Given the description of an element on the screen output the (x, y) to click on. 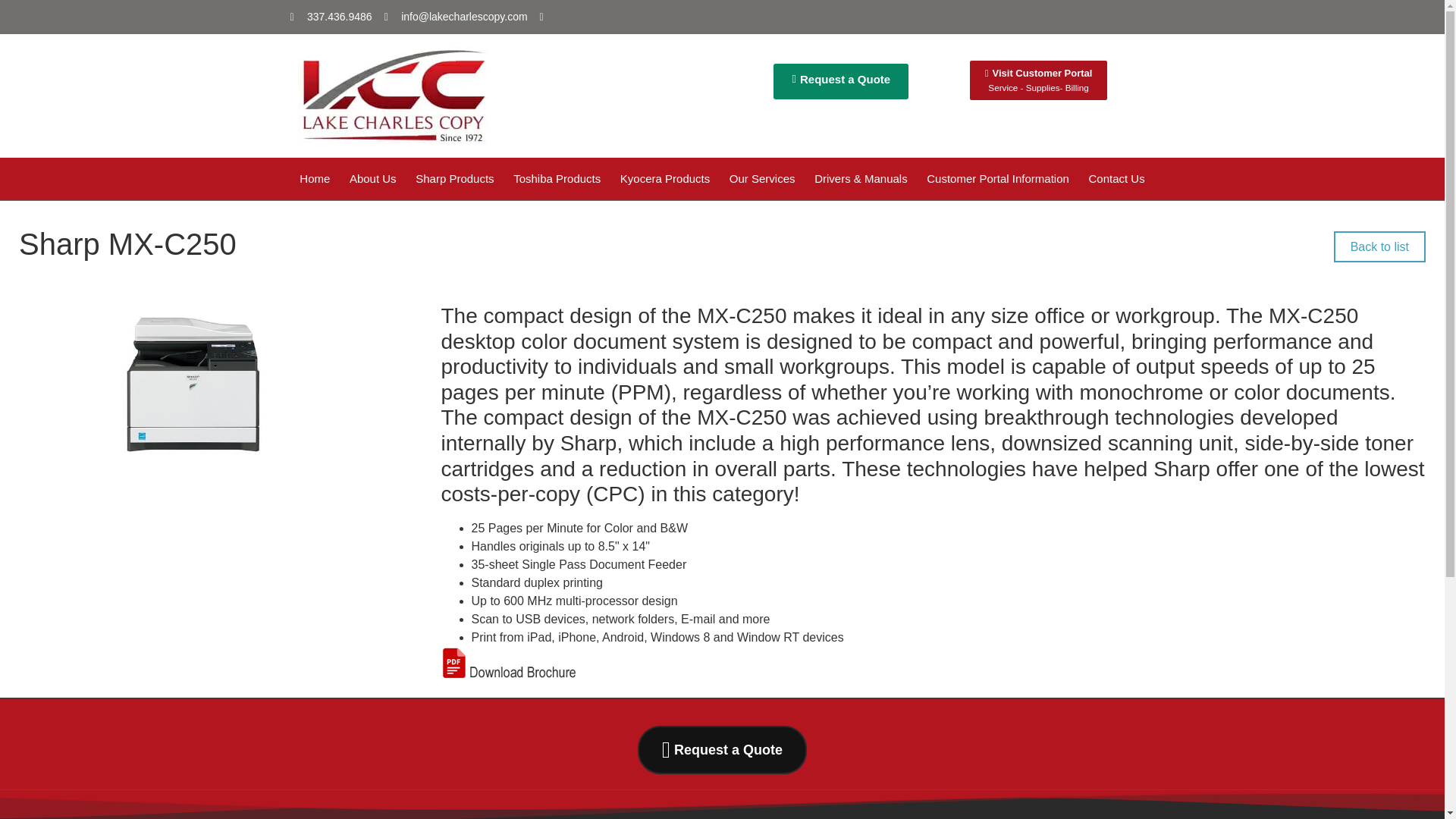
Customer Portal Information (997, 178)
Back to list (1379, 246)
Home (314, 178)
Toshiba Products (556, 178)
Contact Us (1116, 178)
Sharp Products (454, 178)
Our Services (762, 178)
Request a Quote (1038, 79)
337.436.9486 (840, 81)
Kyocera Products (330, 17)
Request a Quote (664, 178)
About Us (717, 749)
